Given the description of an element on the screen output the (x, y) to click on. 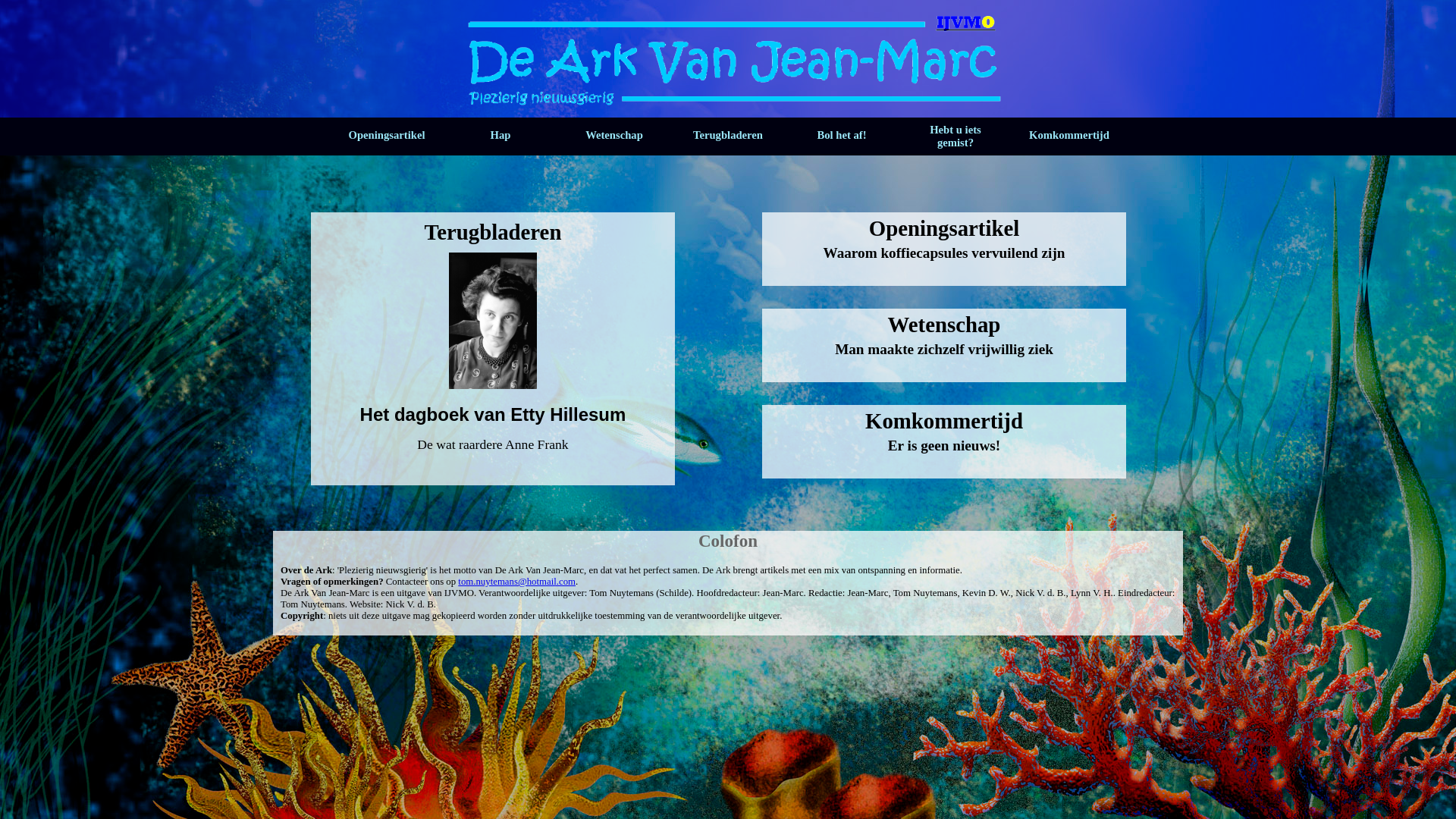
Bol het af! Element type: text (841, 136)
tom.nuytemans@hotmail.com Element type: text (516, 581)
Openingsartikel Element type: text (386, 136)
Hebt u iets
gemist? Element type: text (955, 136)
Terugbladeren Element type: text (727, 136)
Komkommertijd Element type: text (1069, 136)
Hap Element type: text (500, 136)
Wetenschap Element type: text (614, 136)
